Given the description of an element on the screen output the (x, y) to click on. 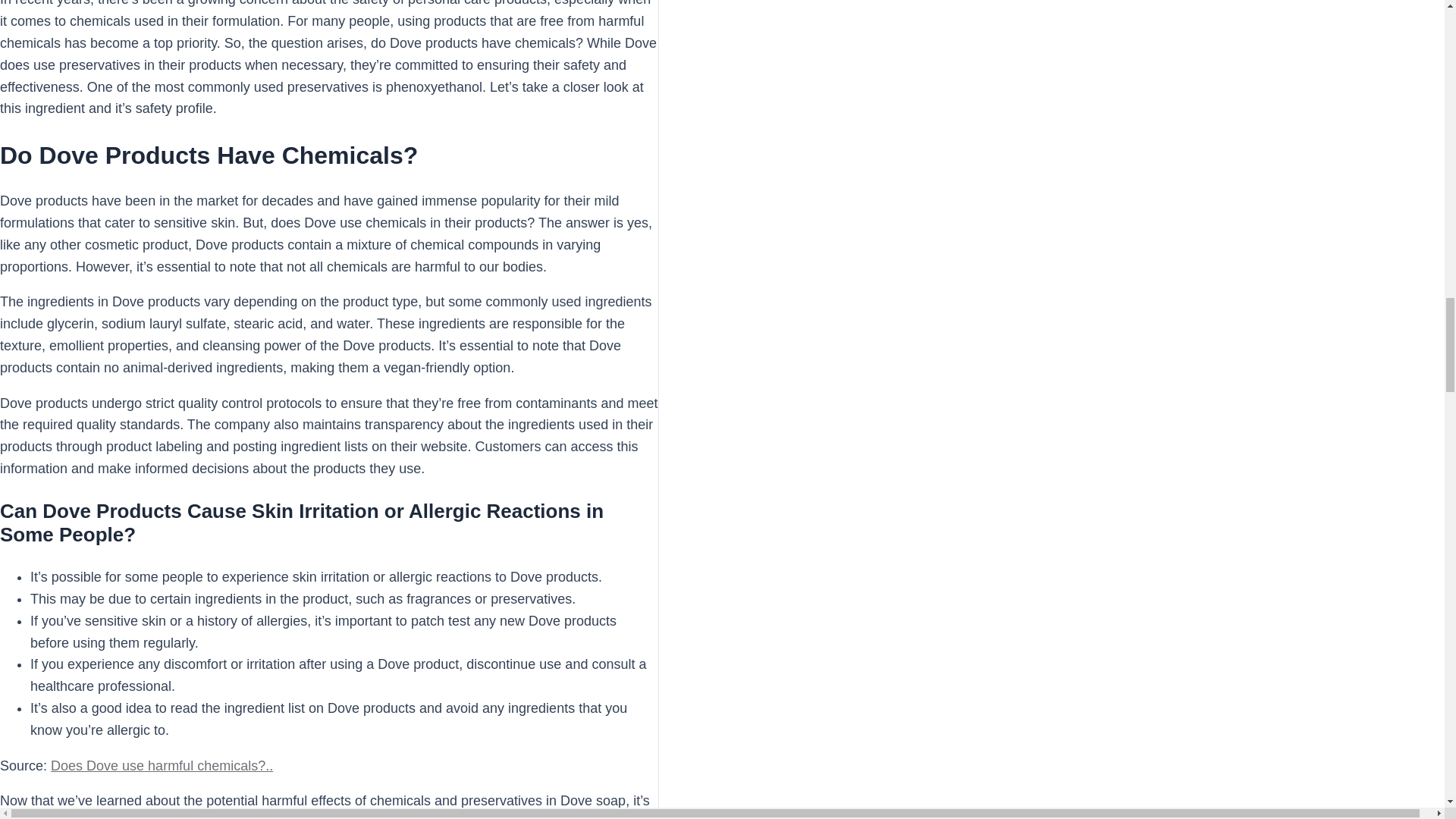
Does Dove use harmful chemicals?.. (161, 765)
